Given the description of an element on the screen output the (x, y) to click on. 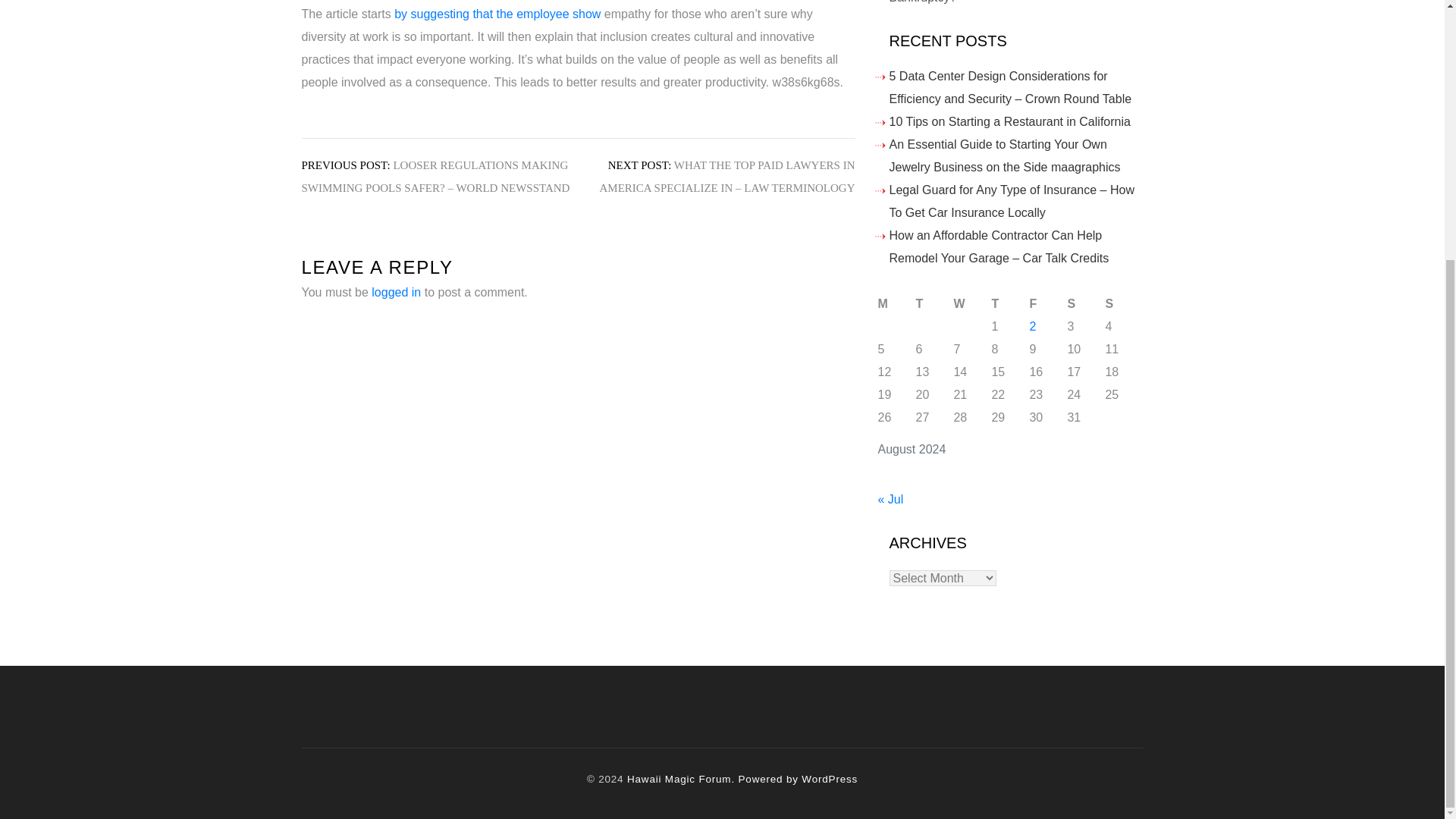
Thursday (1010, 303)
Saturday (1086, 303)
Tuesday (934, 303)
Powered by WordPress (798, 778)
Worried About Filing Bankruptcy? (987, 2)
Hawaii Magic Forum. (681, 778)
Sunday (1123, 303)
logged in (395, 291)
Wednesday (972, 303)
